Given the description of an element on the screen output the (x, y) to click on. 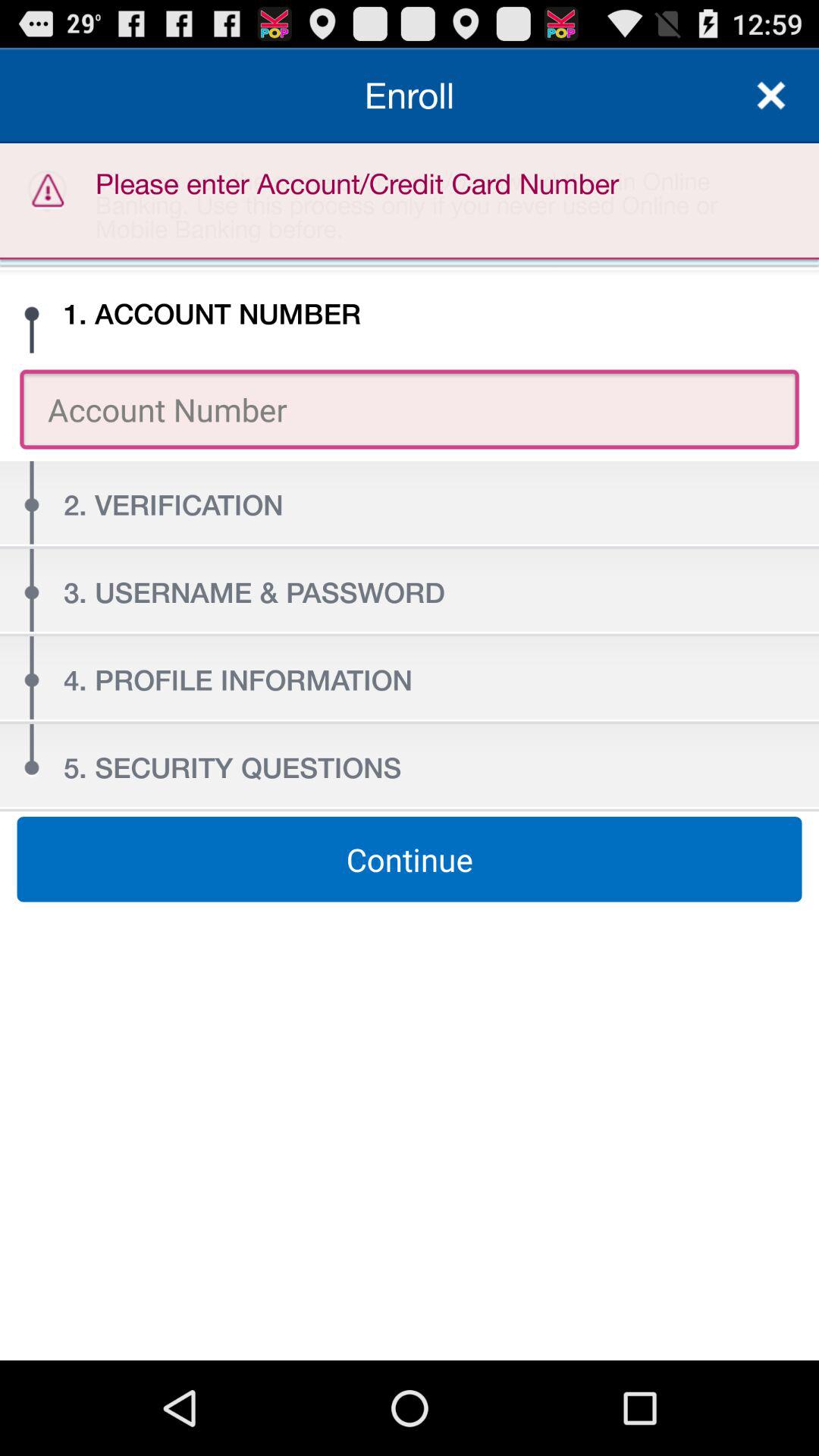
close app (771, 95)
